Given the description of an element on the screen output the (x, y) to click on. 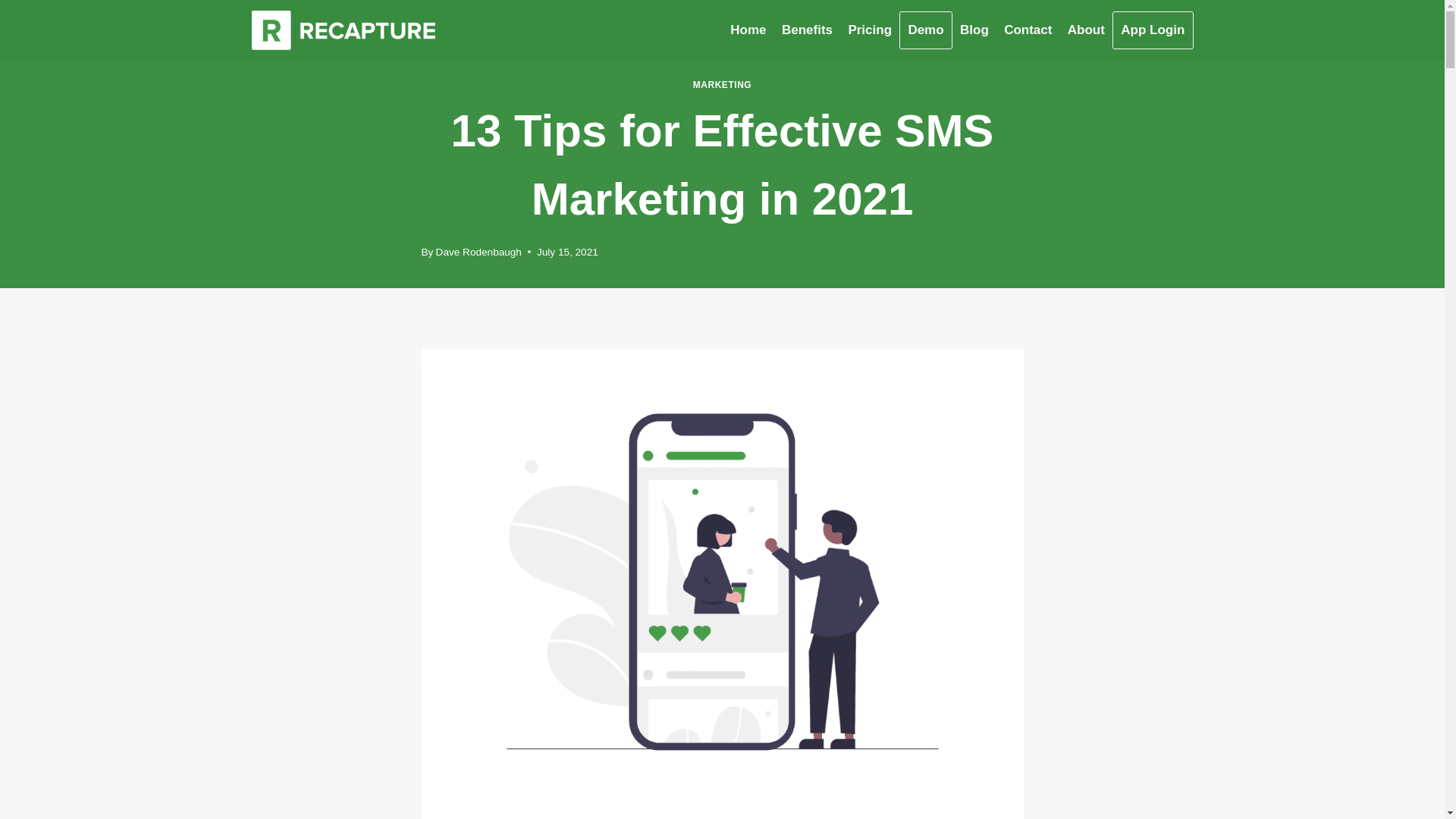
Dave Rodenbaugh (478, 251)
Blog (973, 30)
Benefits (807, 30)
MARKETING (722, 84)
Demo (925, 30)
Home (748, 30)
About (1085, 30)
Pricing (869, 30)
App Login (1152, 30)
Contact (1027, 30)
